Given the description of an element on the screen output the (x, y) to click on. 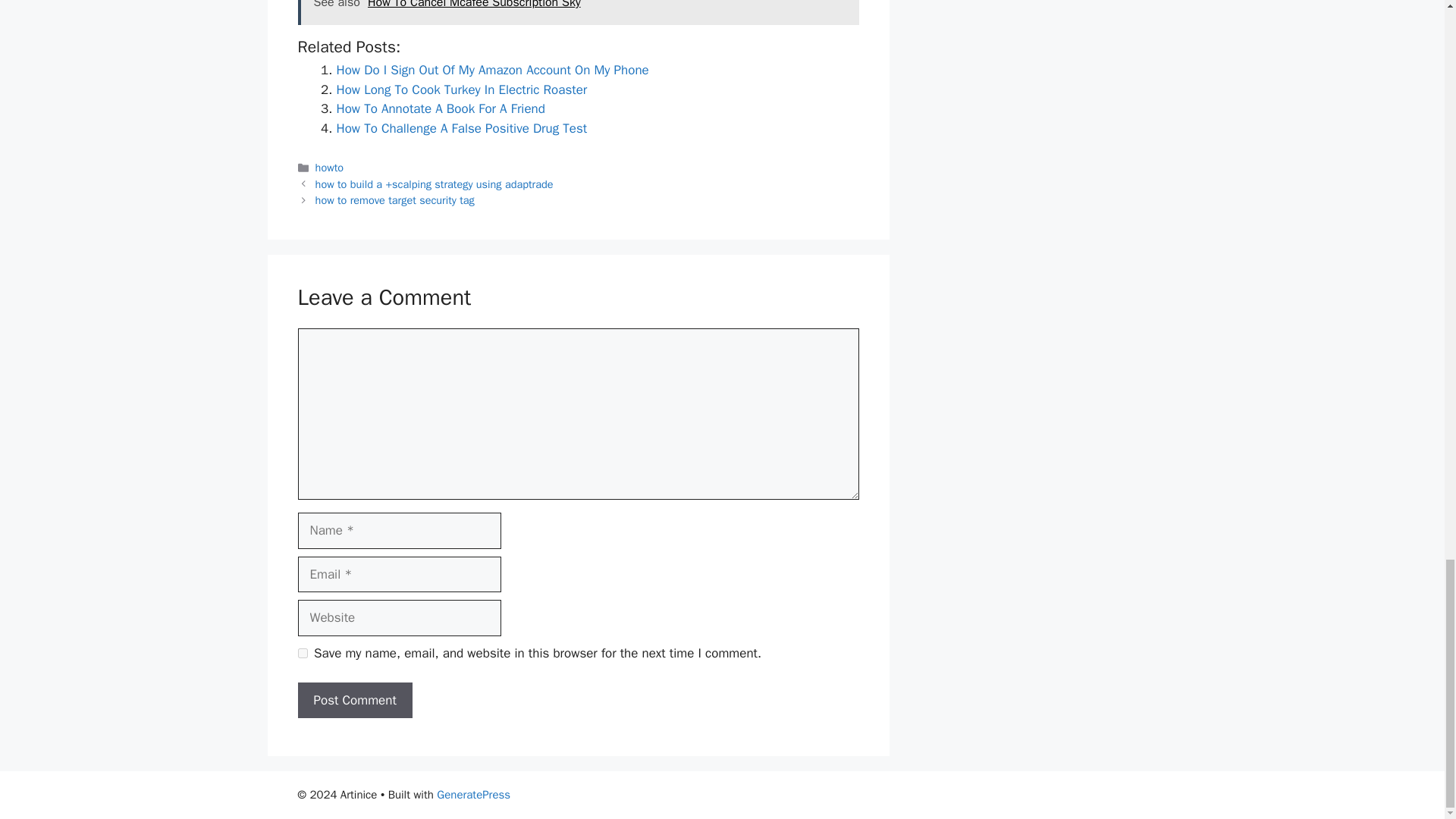
How To Annotate A Book For A Friend (440, 108)
See also  How To Cancel Mcafee Subscription Sky (578, 12)
yes (302, 653)
How To Challenge A False Positive Drug Test (462, 128)
how to remove target security tag (394, 200)
How Do I Sign Out Of My Amazon Account On My Phone (492, 69)
How Long To Cook Turkey In Electric Roaster (462, 89)
Post Comment (354, 700)
How To Annotate A Book For A Friend (440, 108)
How Long To Cook Turkey In Electric Roaster (462, 89)
